Given the description of an element on the screen output the (x, y) to click on. 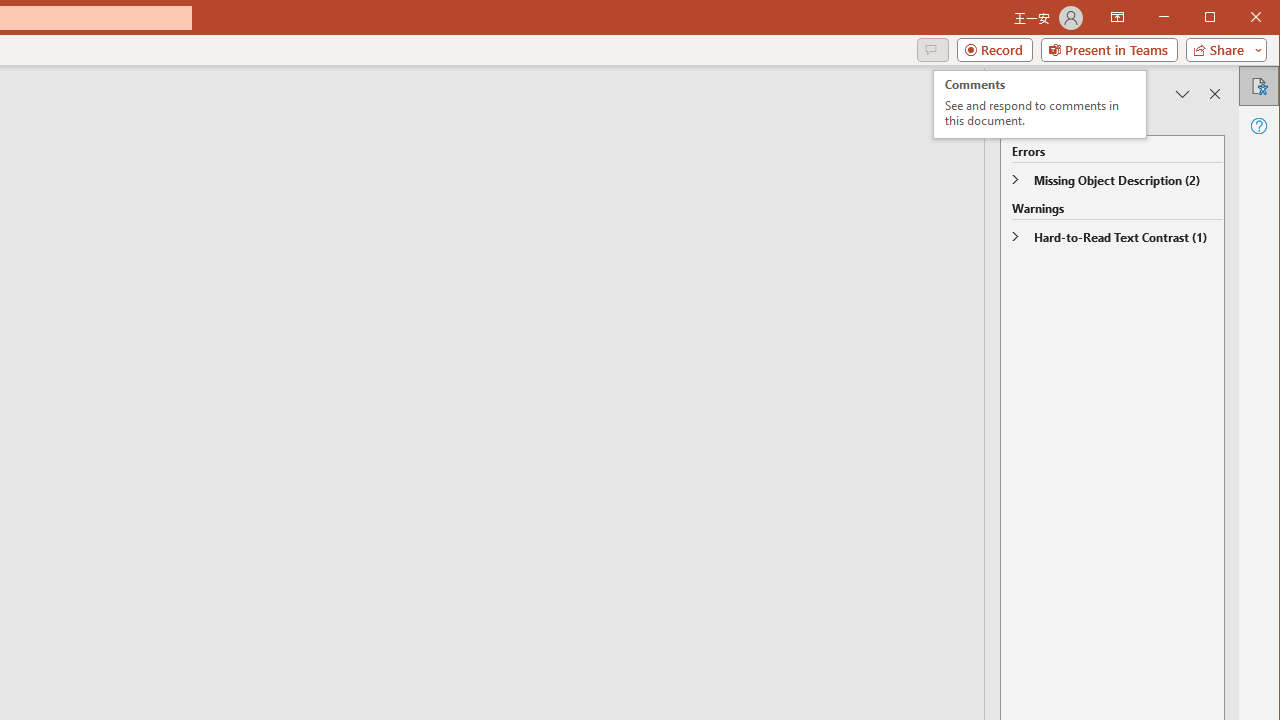
Maximize (1238, 18)
